Given the description of an element on the screen output the (x, y) to click on. 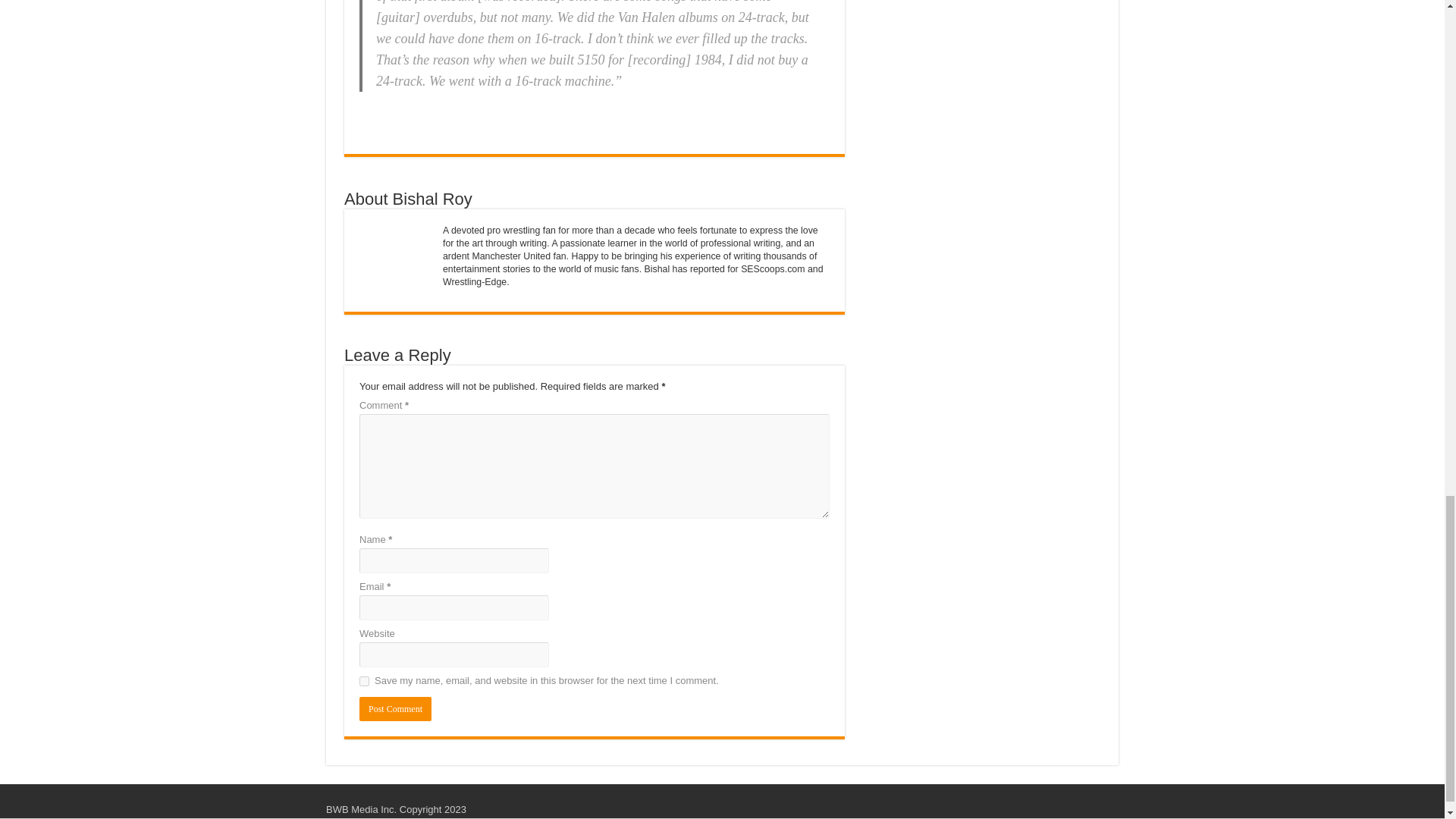
Post Comment (394, 708)
yes (364, 681)
Post Comment (394, 708)
